Given the description of an element on the screen output the (x, y) to click on. 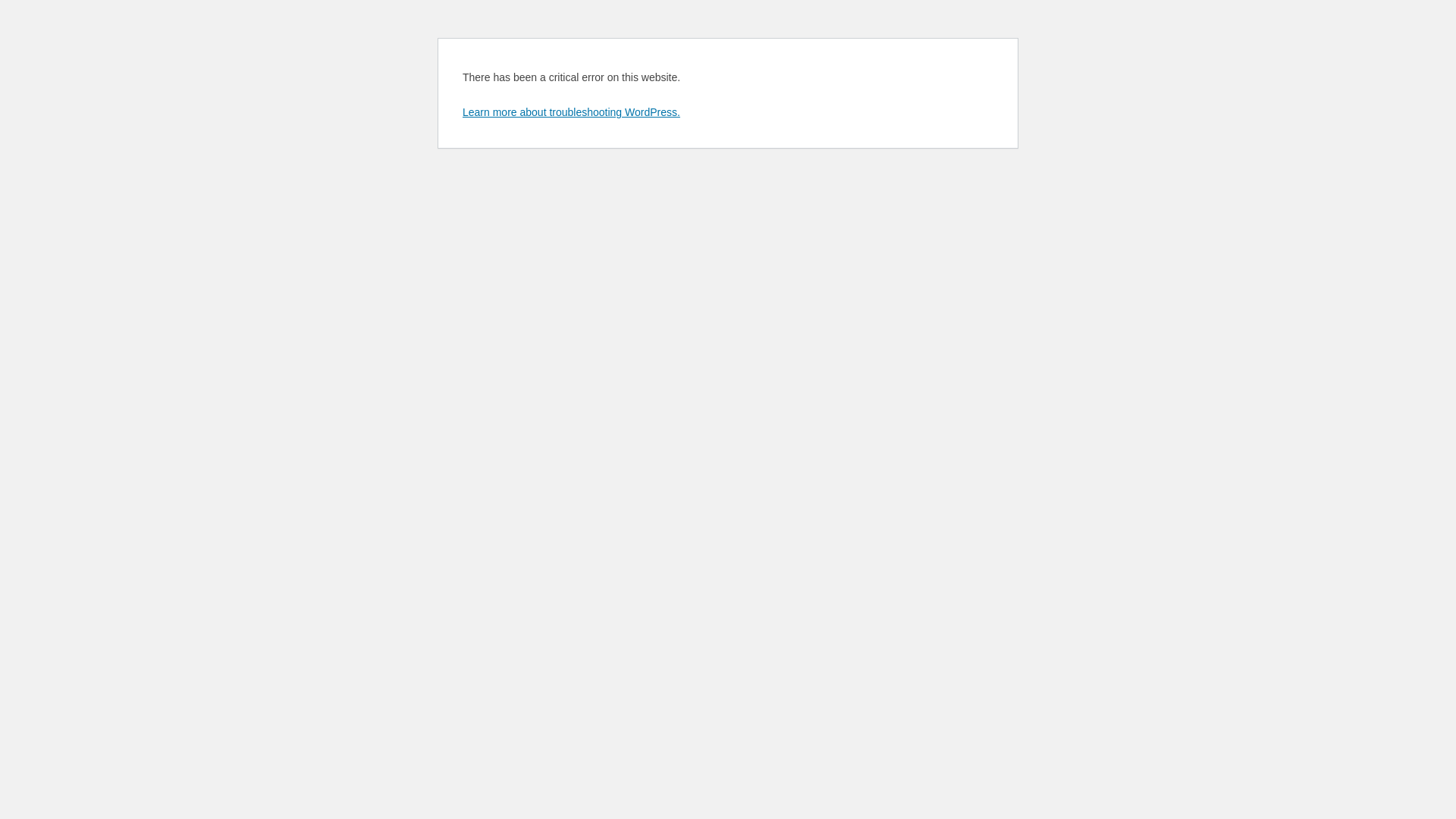
Learn more about troubleshooting WordPress. Element type: text (571, 112)
